Given the description of an element on the screen output the (x, y) to click on. 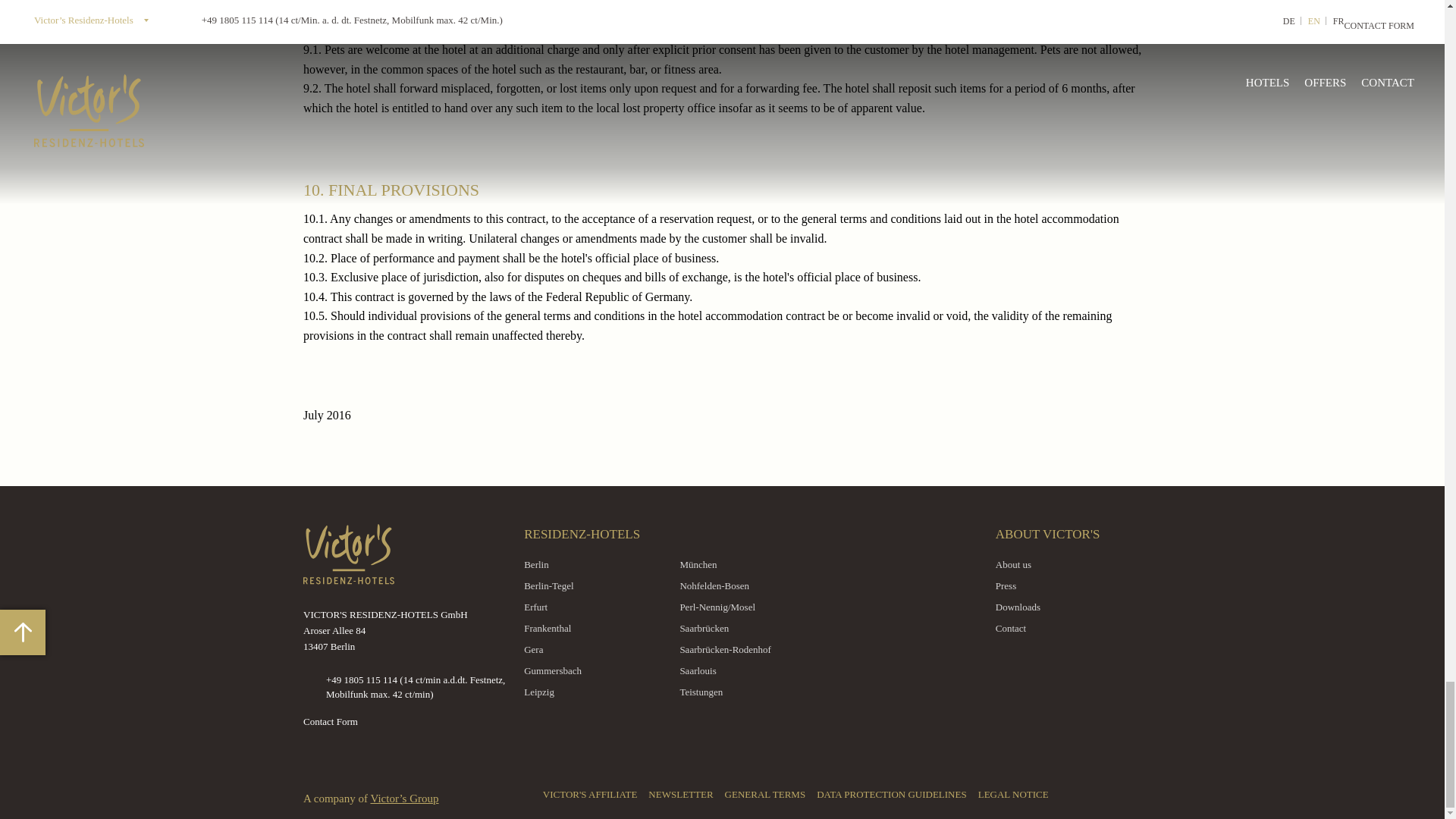
Berlin-Tegel (595, 585)
Contact Form (330, 721)
Berlin (595, 564)
